Given the description of an element on the screen output the (x, y) to click on. 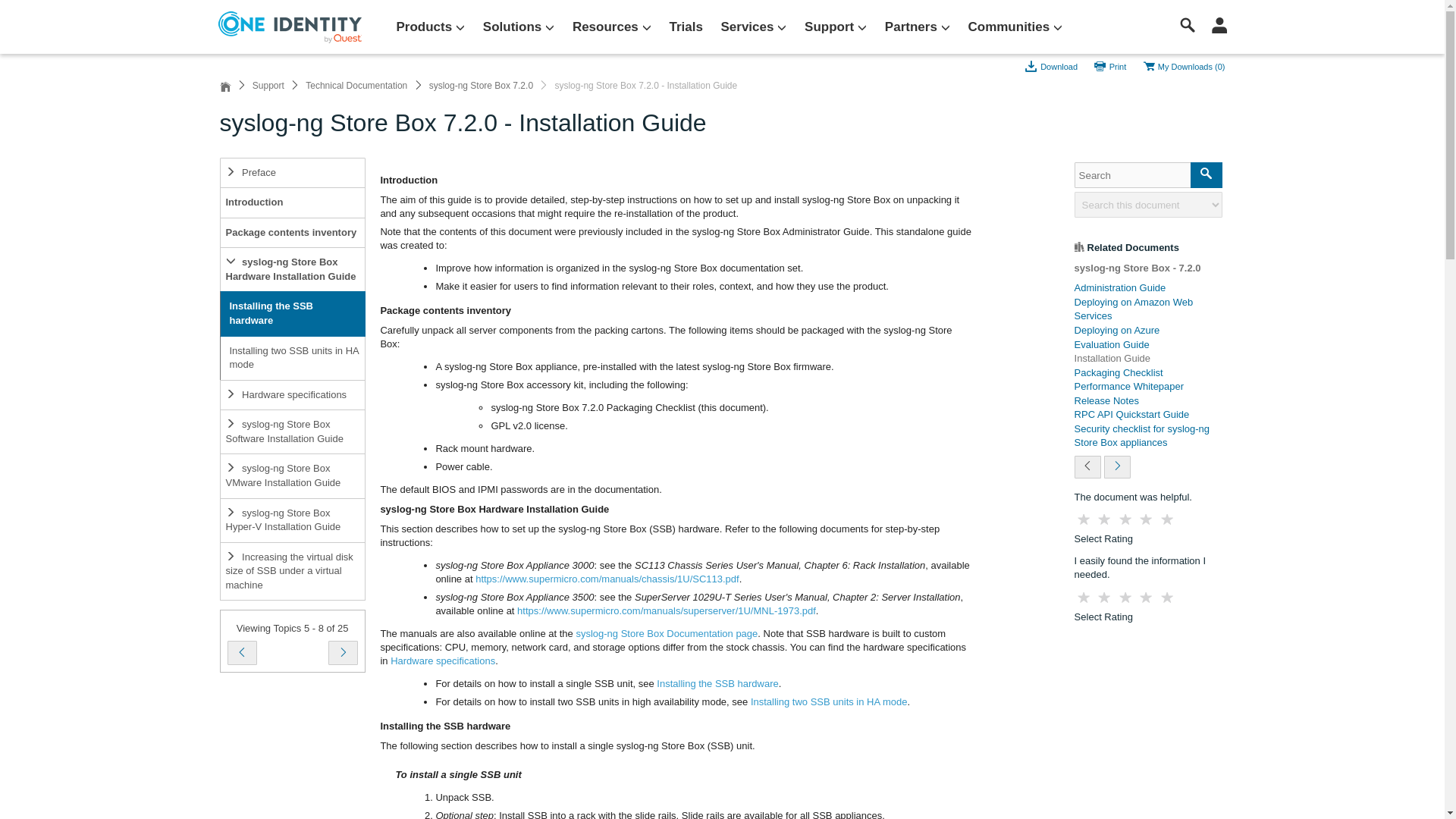
Resources (611, 27)
Solutions (519, 27)
Products (429, 27)
